Given the description of an element on the screen output the (x, y) to click on. 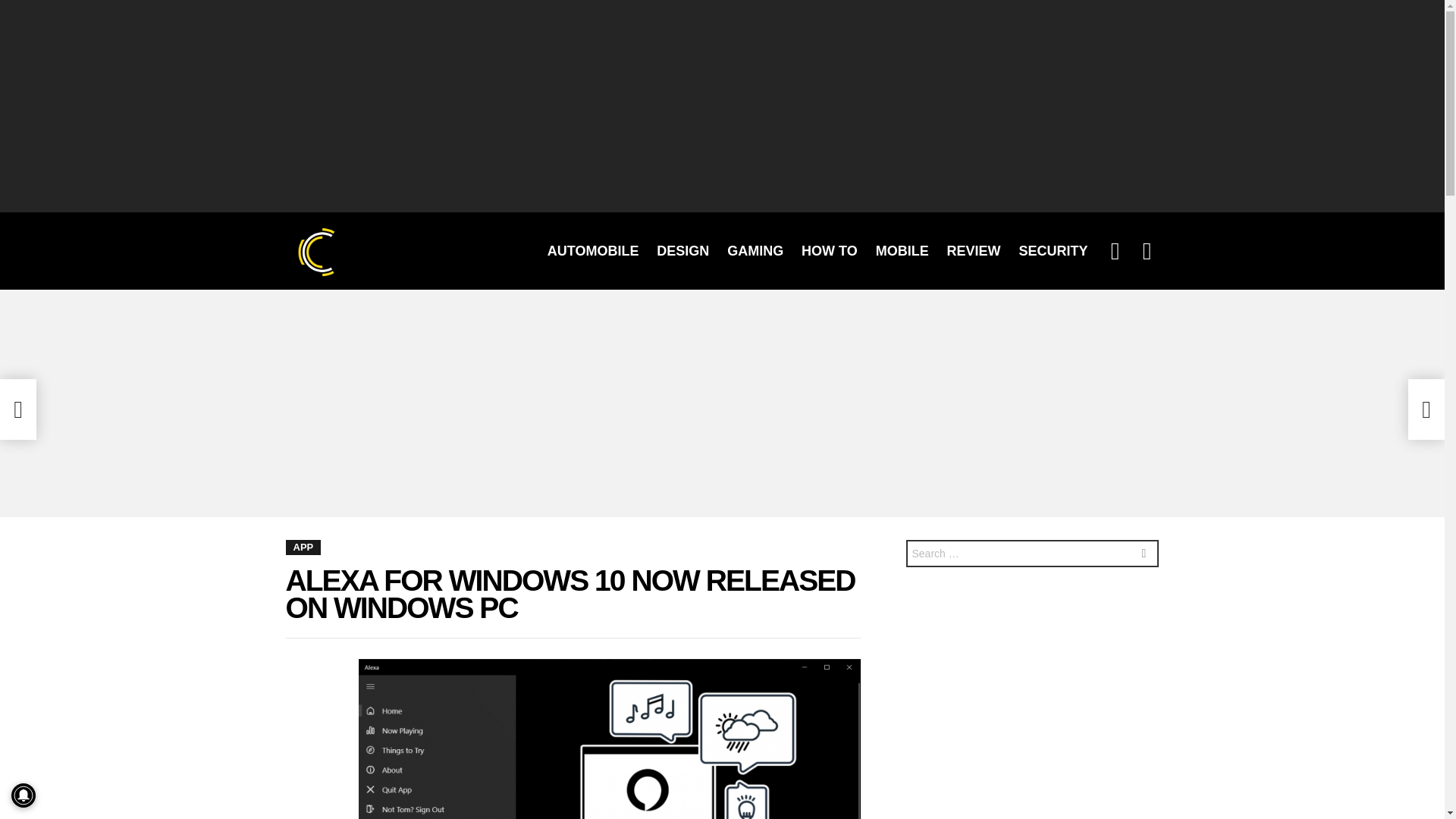
REVIEW (974, 250)
Search for: (1031, 553)
GAMING (754, 250)
AUTOMOBILE (593, 250)
MOBILE (901, 250)
SECURITY (1052, 250)
DESIGN (682, 250)
APP (302, 547)
HOW TO (828, 250)
